Given the description of an element on the screen output the (x, y) to click on. 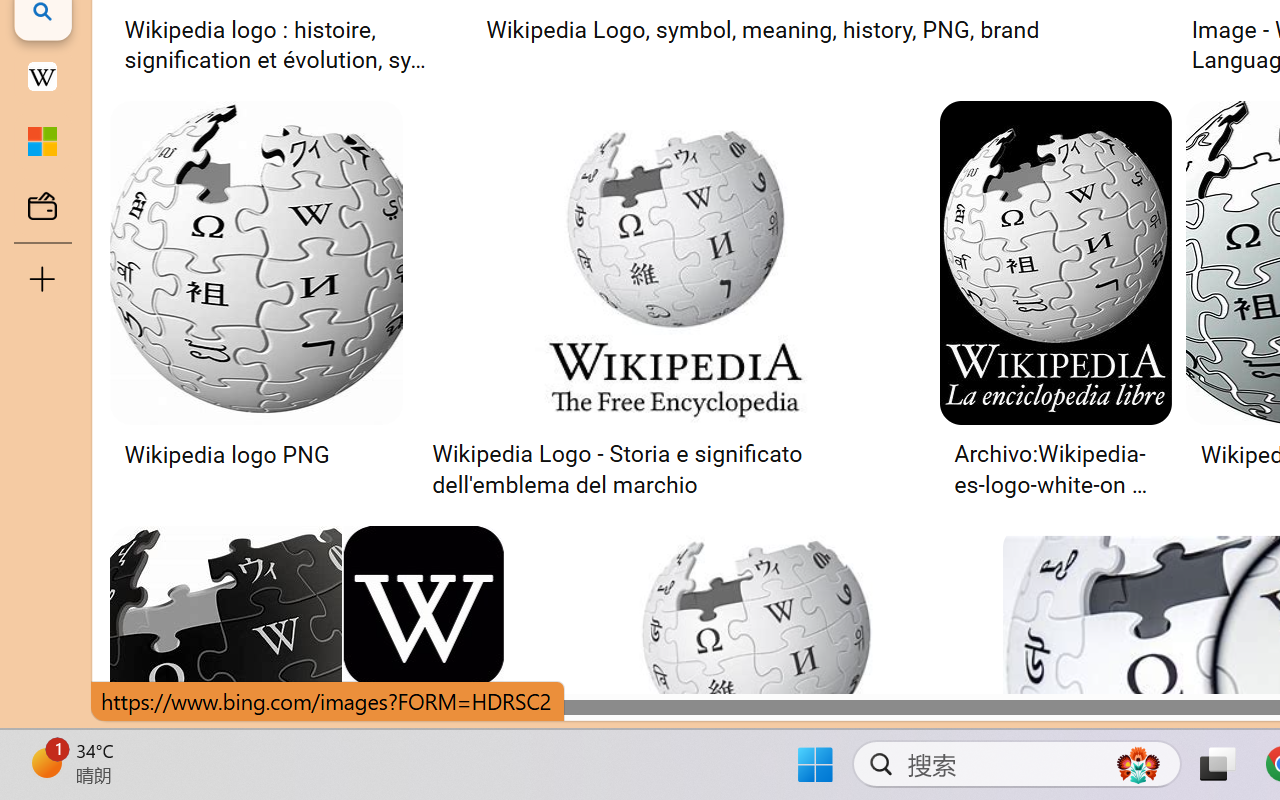
Earth - Wikipedia (42, 75)
